Given the description of an element on the screen output the (x, y) to click on. 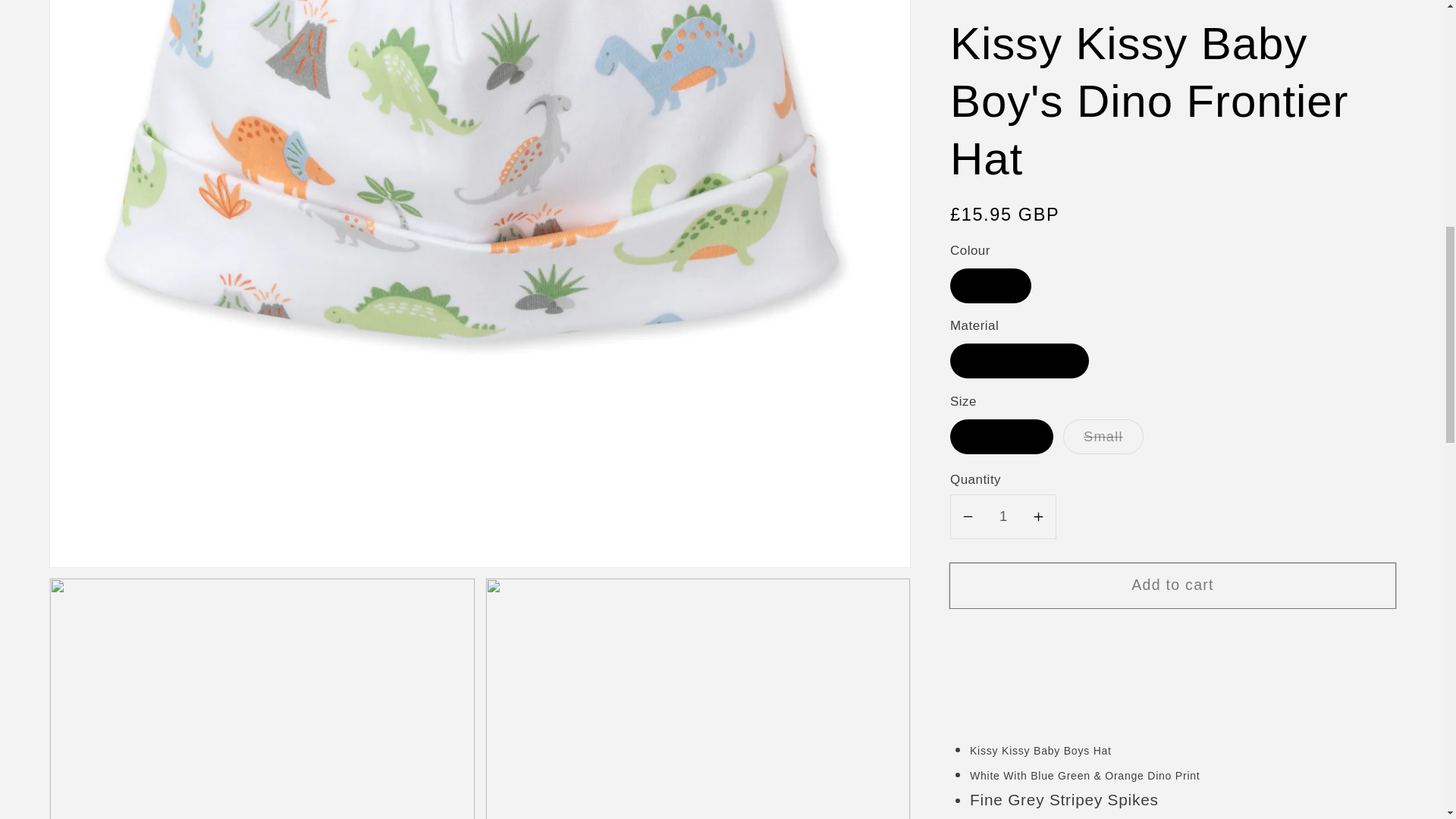
1 (1003, 19)
